Given the description of an element on the screen output the (x, y) to click on. 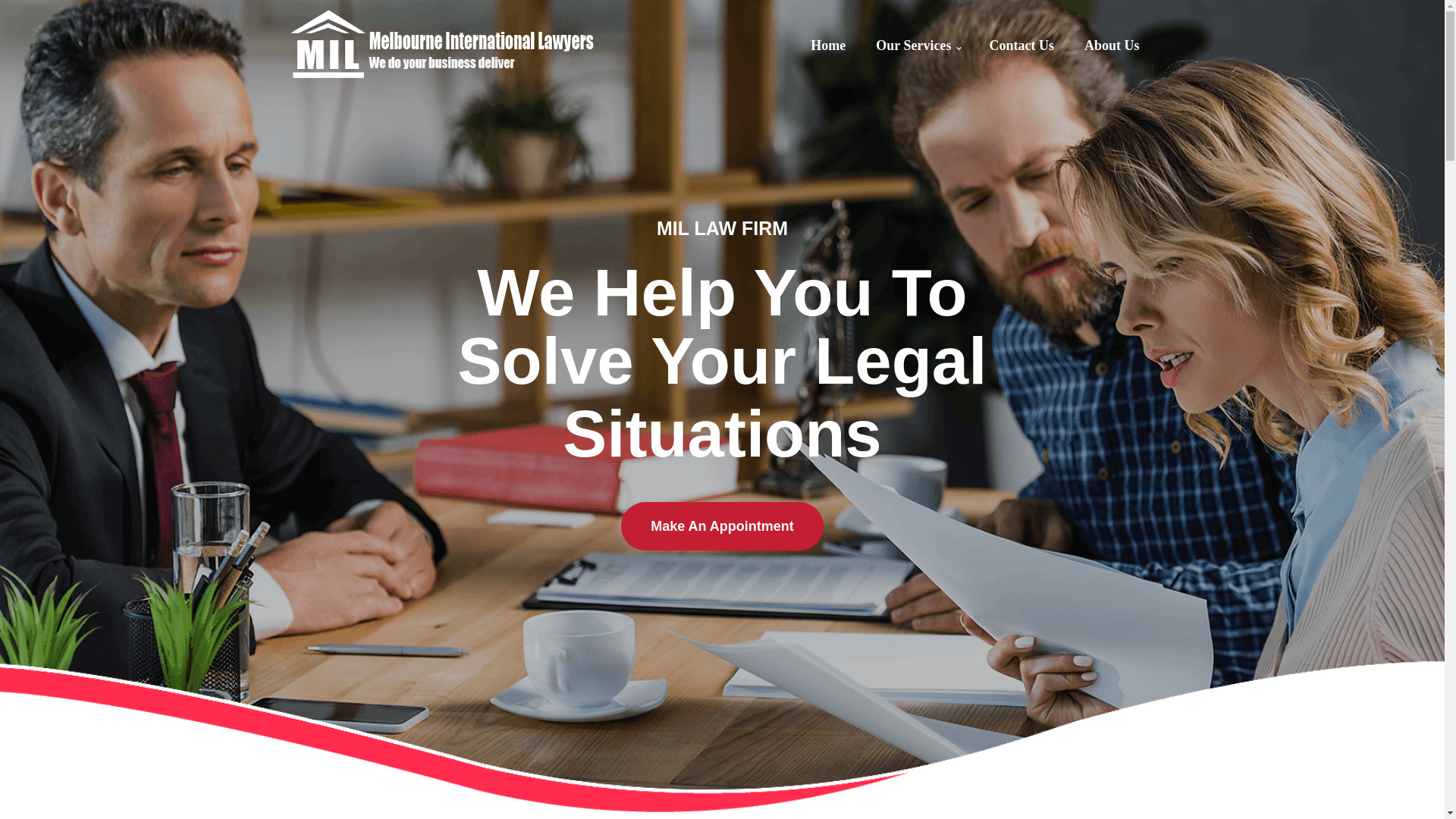
About Us Element type: text (1111, 45)
Melbourne International Lawyers Element type: hover (441, 43)
Home Element type: text (827, 45)
Make An Appointment Element type: text (722, 526)
Our Services Element type: text (916, 45)
Contact Us Element type: text (1021, 45)
